Given the description of an element on the screen output the (x, y) to click on. 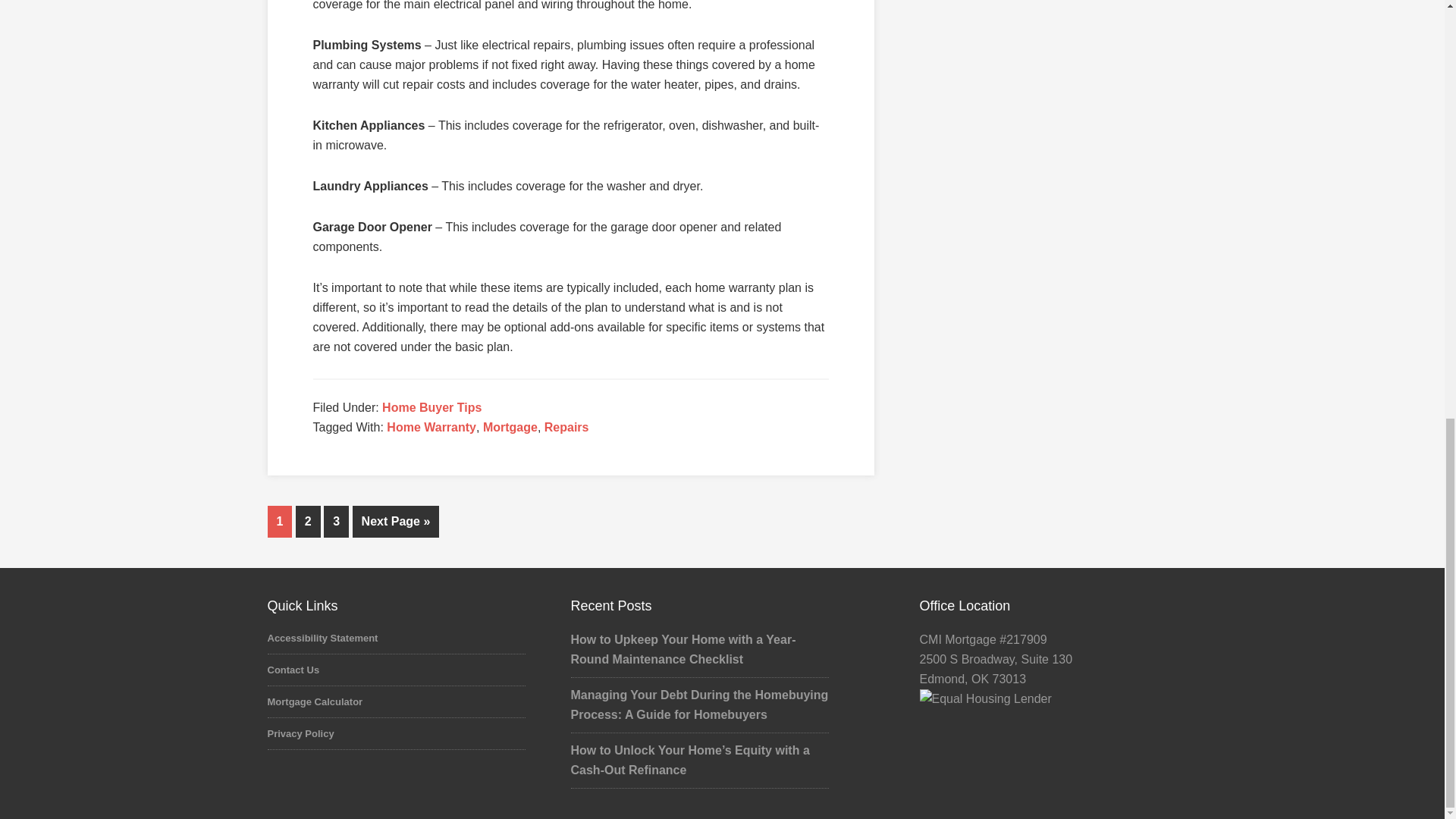
Repairs (566, 427)
Home Warranty (431, 427)
Home Buyer Tips (431, 407)
Mortgage Calculator (314, 701)
Mortgage (510, 427)
Privacy Policy (299, 733)
Contact Us (292, 669)
Accessibility Statement (321, 637)
